Given the description of an element on the screen output the (x, y) to click on. 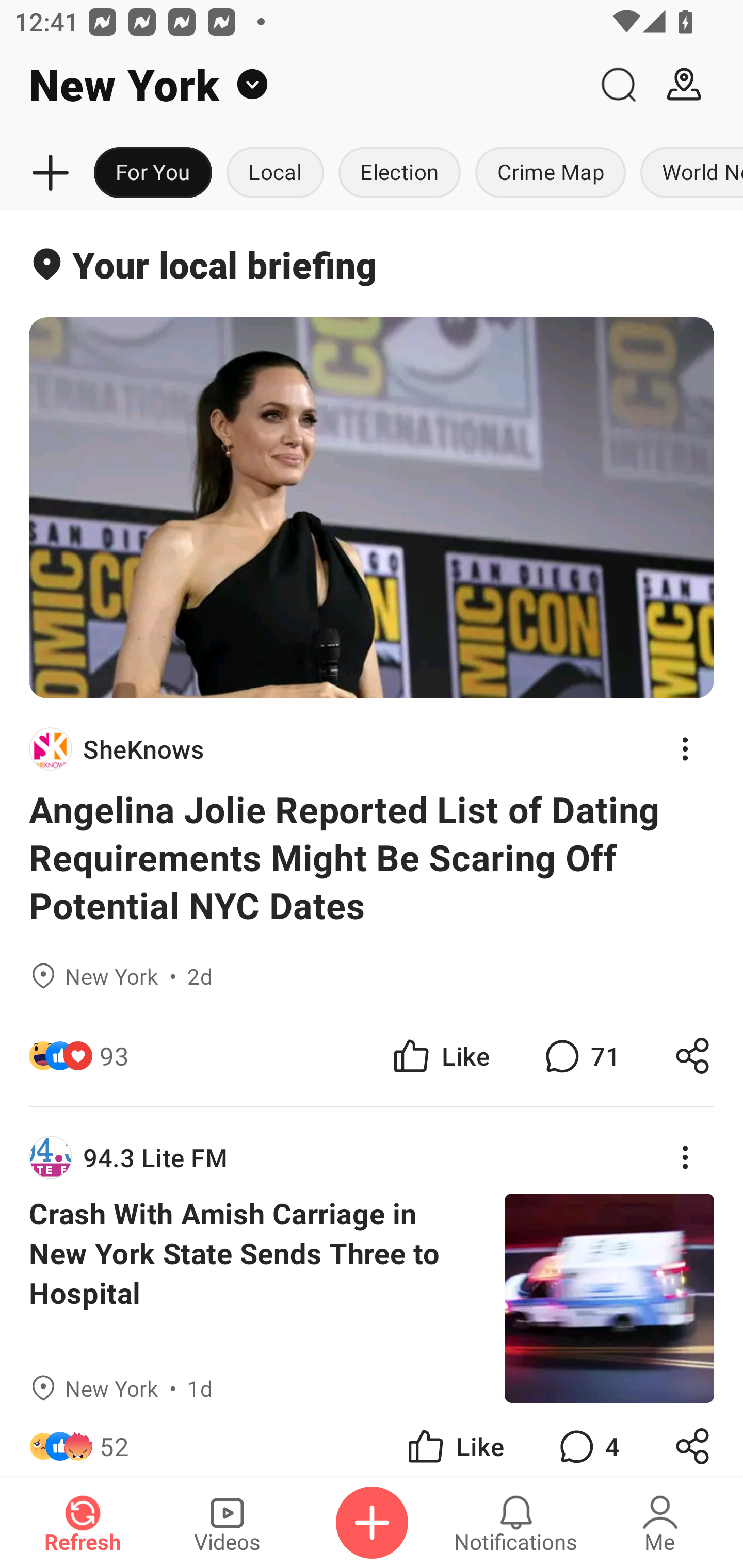
New York (292, 84)
For You (152, 172)
Local (275, 172)
Election (399, 172)
Crime Map (550, 172)
World News (688, 172)
93 (114, 1055)
Like (439, 1055)
71 (579, 1055)
52 (114, 1440)
Like (454, 1440)
4 (587, 1440)
Videos (227, 1522)
Notifications (516, 1522)
Me (659, 1522)
